Given the description of an element on the screen output the (x, y) to click on. 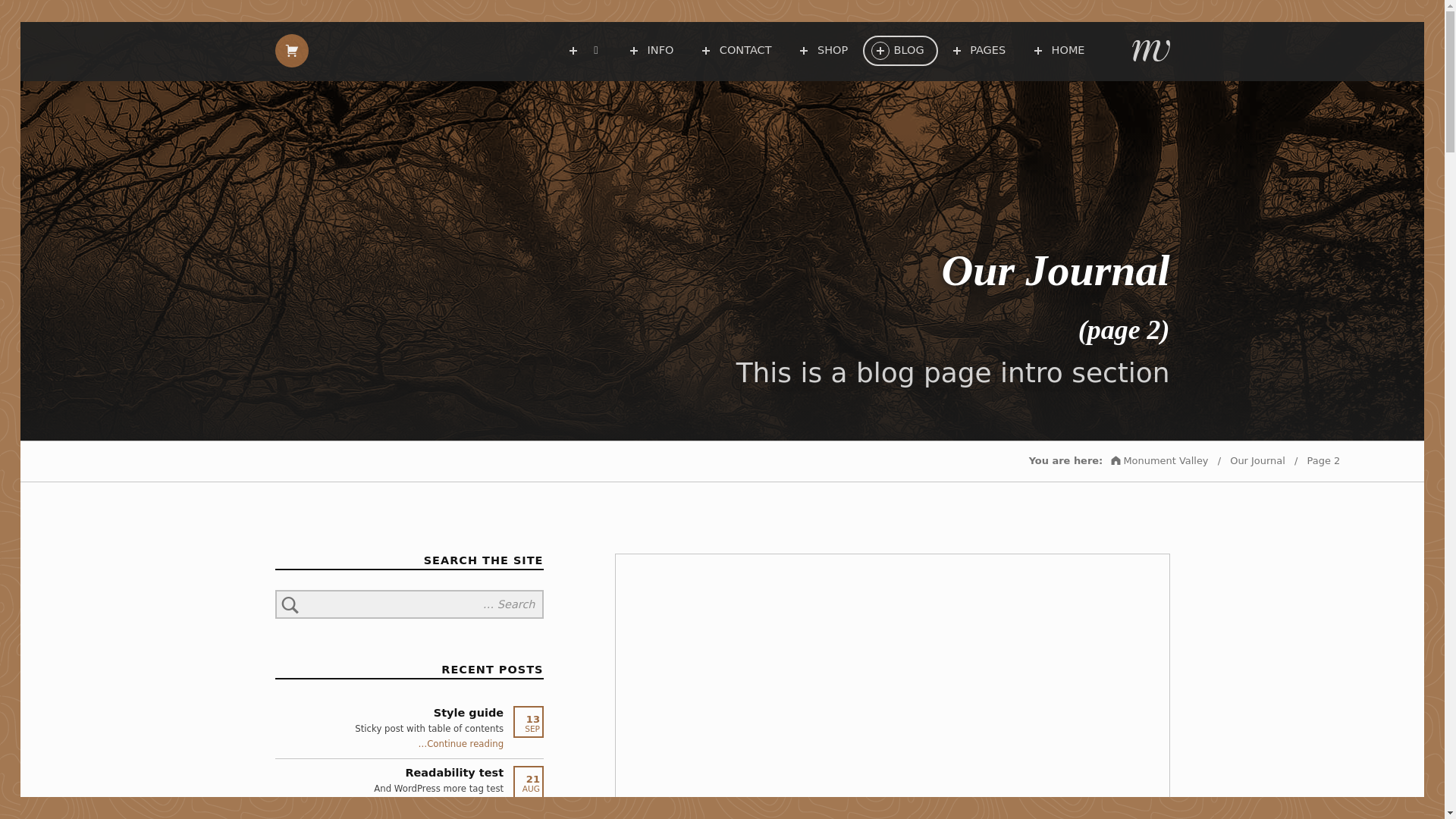
HOME (1065, 50)
Search (290, 604)
PAGES (986, 50)
Search (290, 604)
